Given the description of an element on the screen output the (x, y) to click on. 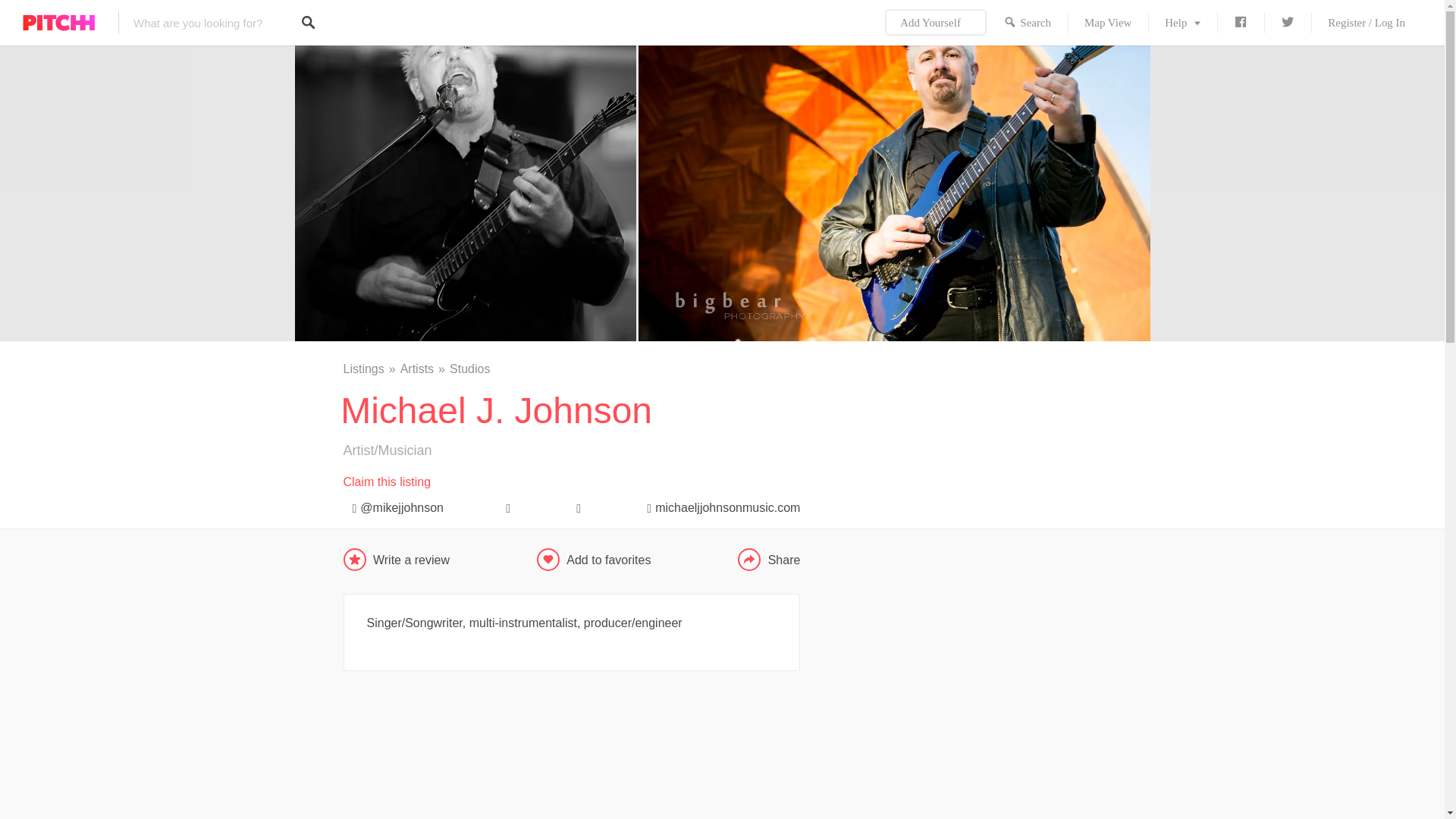
Listings (370, 368)
FB (1240, 23)
Share (768, 558)
Add to favorites (608, 559)
Add Yourself (935, 22)
TW (1287, 23)
Studios (469, 368)
michaeljjohnsonmusic.com (718, 504)
Michael J. Johnson (570, 760)
Claim this listing (386, 481)
